Given the description of an element on the screen output the (x, y) to click on. 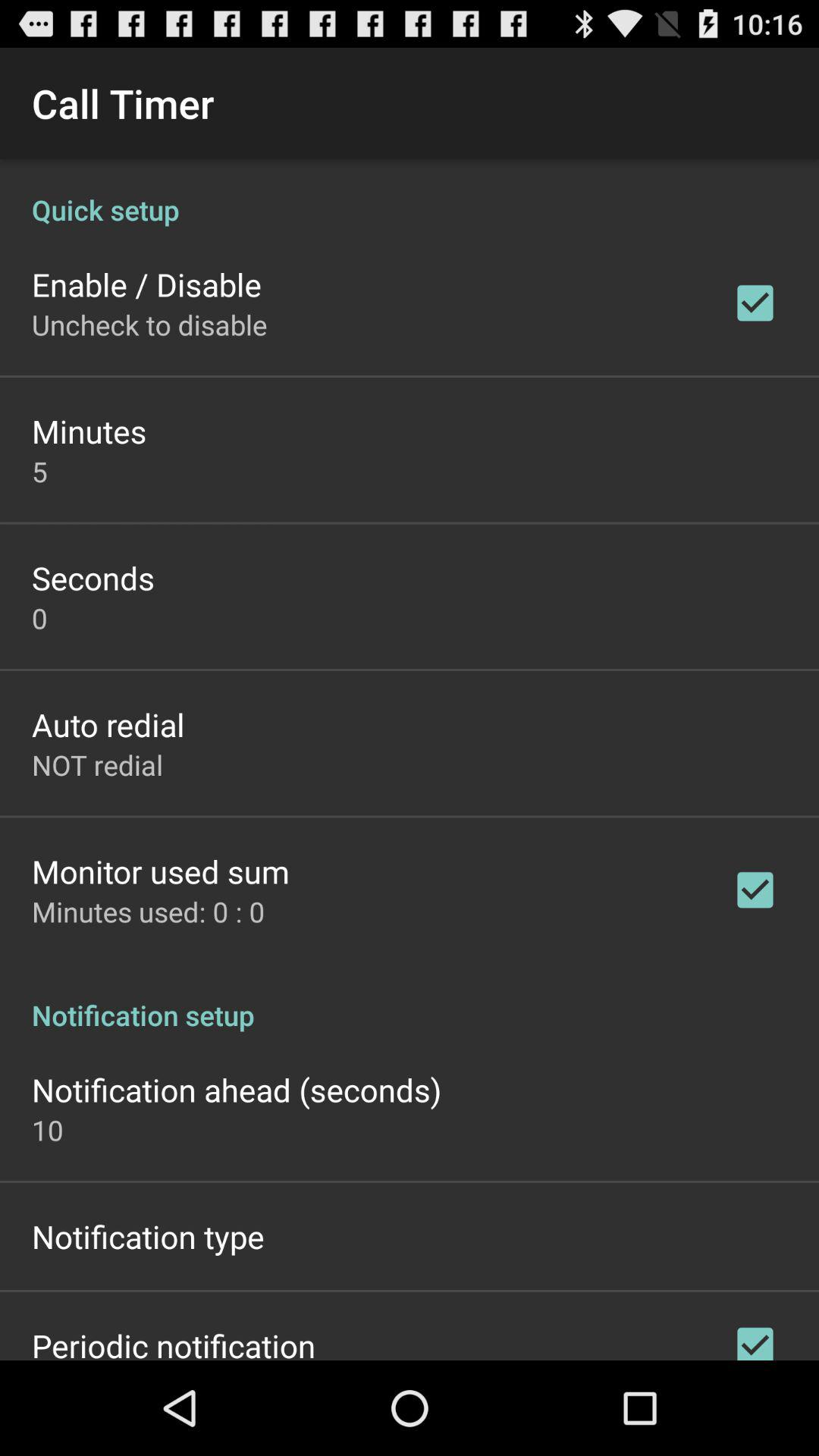
click on the last check box (755, 1336)
select the tick mark which is right to the enabledisable (755, 302)
